Given the description of an element on the screen output the (x, y) to click on. 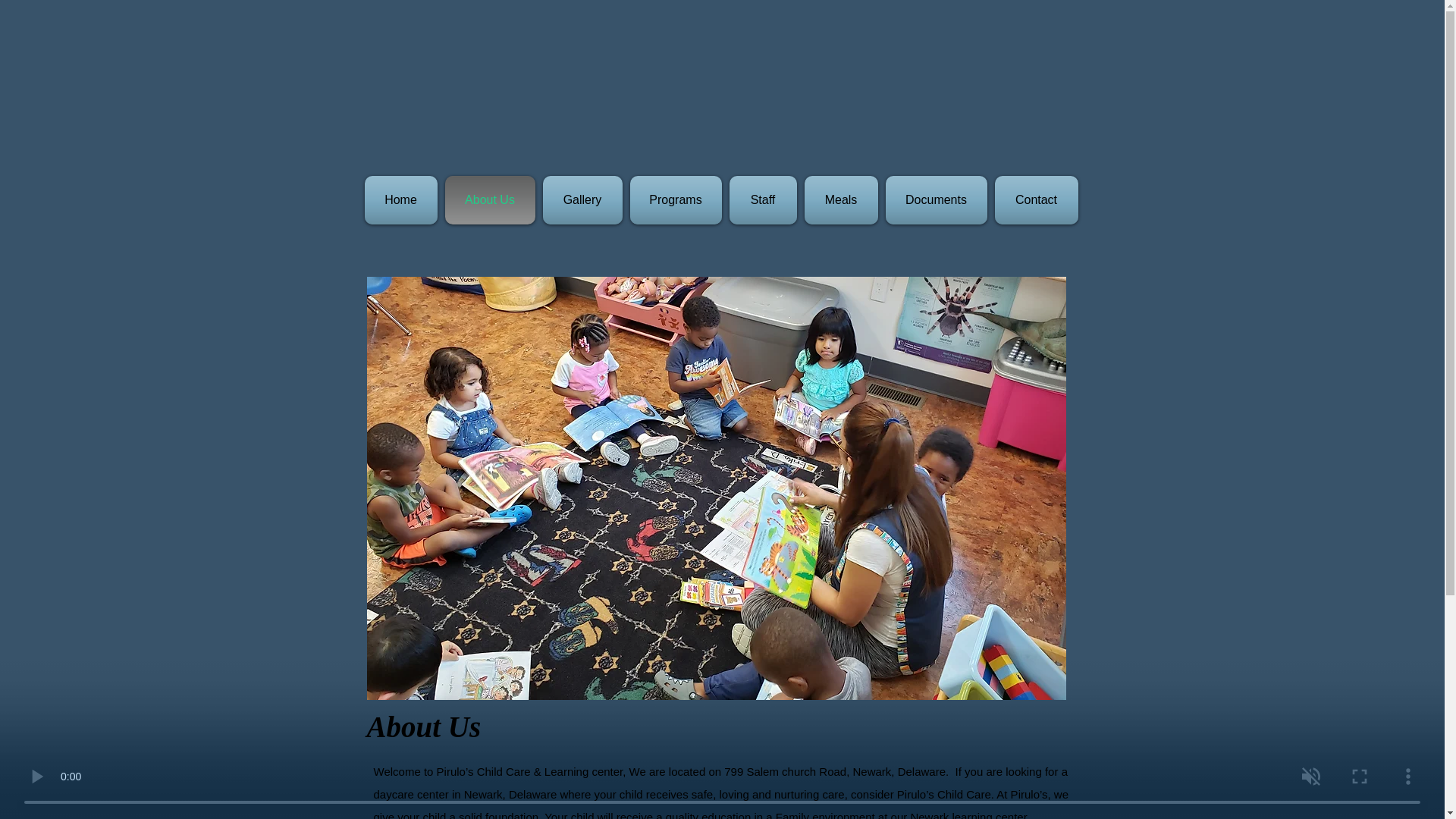
Home (402, 200)
Gallery (582, 200)
Staff (762, 200)
About Us (489, 200)
Documents (935, 200)
Programs (675, 200)
Meals (841, 200)
Contact (1033, 200)
